Given the description of an element on the screen output the (x, y) to click on. 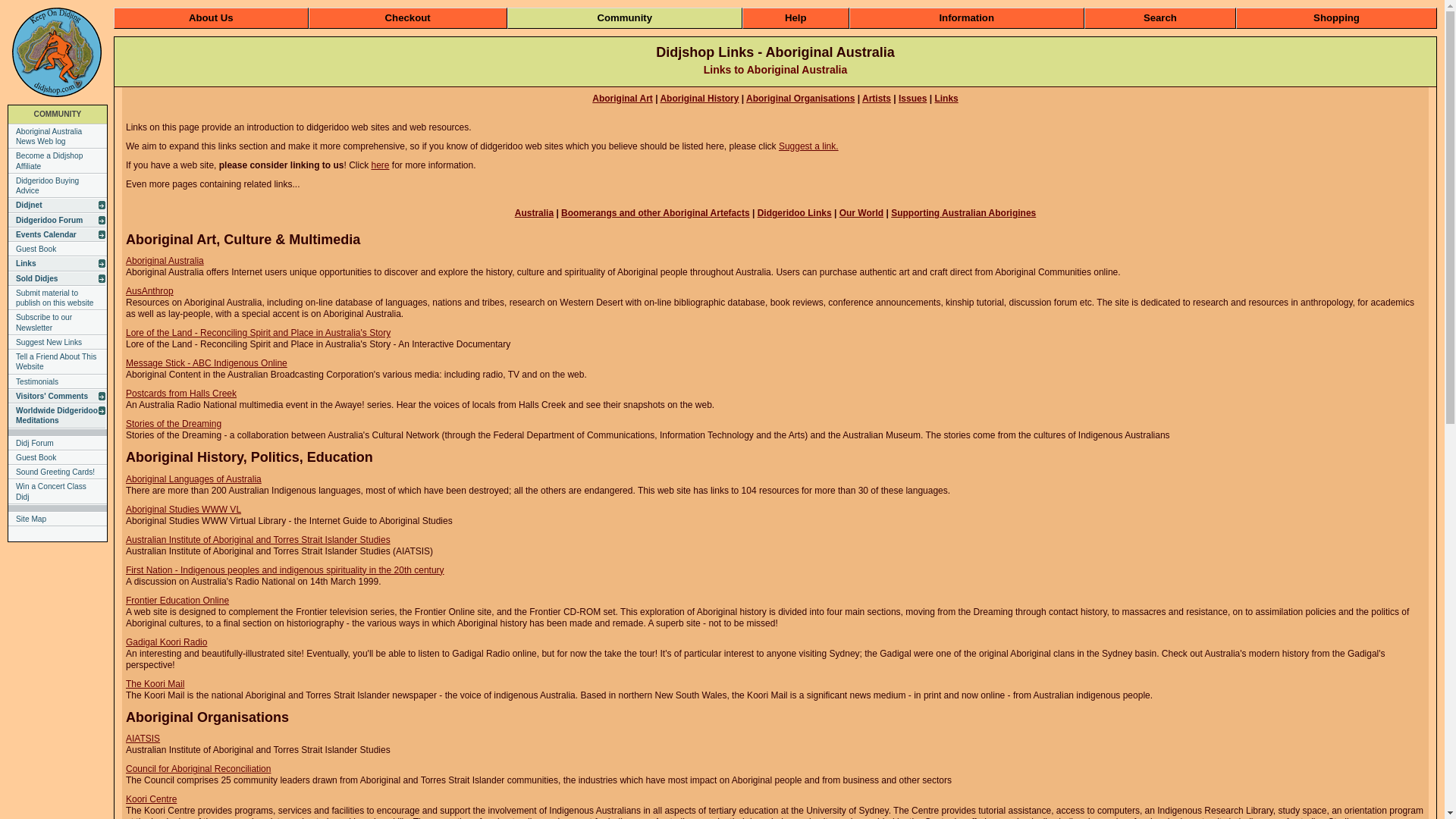
Issues Element type: text (912, 98)
Gadigal Koori Radio Element type: text (166, 642)
Australia Element type: text (533, 212)
COMMUNITY Element type: text (57, 113)
Boomerangs and other Aboriginal Artefacts Element type: text (655, 212)
Aboriginal Australia Element type: text (164, 260)
Aboriginal Organisations Element type: text (800, 98)
here Element type: text (379, 165)
Guest Book Element type: text (57, 248)
Information Element type: text (966, 17)
Stories of the Dreaming Element type: text (173, 423)
Help Element type: text (795, 17)
Search Element type: text (1159, 17)
Links Element type: text (56, 263)
Aboriginal Art Element type: text (622, 98)
Didjnet Element type: text (56, 204)
Didgeridoo Forum Element type: text (56, 219)
Community Element type: text (624, 17)
Sold Didjes Element type: text (56, 278)
Become a Didjshop Affiliate Element type: text (57, 160)
Supporting Australian Aborigines Element type: text (963, 212)
Site Map Element type: text (57, 518)
Suggest New Links Element type: text (57, 341)
Win a Concert Class Didj Element type: text (57, 491)
AIATSIS Element type: text (142, 738)
Our World Element type: text (861, 212)
Suggest a link. Element type: text (808, 146)
Message Stick - ABC Indigenous Online Element type: text (206, 362)
Checkout Element type: text (407, 17)
Guest Book Element type: text (57, 457)
Worldwide Didgeridoo Meditations Element type: text (56, 415)
Frontier Education Online Element type: text (177, 600)
Events Calendar Element type: text (56, 234)
Aboriginal Australia News Web log Element type: text (57, 136)
The Koori Mail Element type: text (154, 683)
AusAnthrop Element type: text (149, 290)
Postcards from Halls Creek Element type: text (180, 393)
Council for Aboriginal Reconciliation Element type: text (197, 768)
About Us Element type: text (210, 17)
Testimonials Element type: text (57, 381)
Artists Element type: text (876, 98)
Links Element type: text (945, 98)
Didgeridoo Links Element type: text (794, 212)
Didgeridoo Buying Advice Element type: text (57, 185)
Submit material to publish on this website Element type: text (57, 298)
Aboriginal Studies WWW VL Element type: text (183, 509)
Tell a Friend About This Website Element type: text (57, 361)
Aboriginal History Element type: text (698, 98)
Sound Greeting Cards! Element type: text (57, 471)
Koori Centre Element type: text (150, 798)
Shopping Element type: text (1336, 17)
Aboriginal Languages of Australia Element type: text (193, 478)
Visitors' Comments Element type: text (56, 395)
Subscribe to our Newsletter Element type: text (57, 322)
Didj Forum Element type: text (57, 442)
